Given the description of an element on the screen output the (x, y) to click on. 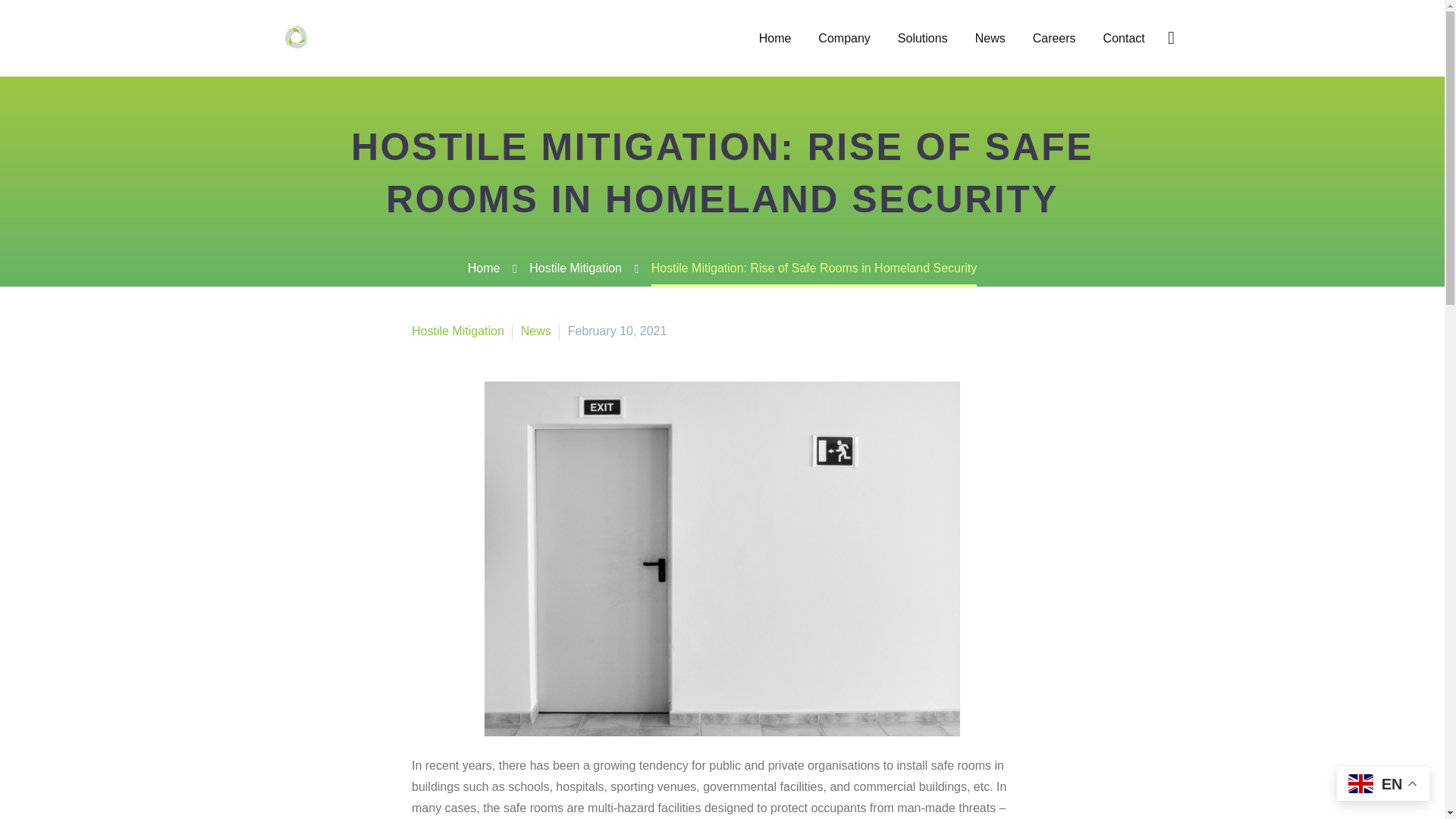
Careers (1054, 37)
View all posts in Hostile Mitigation (457, 330)
Home (483, 267)
Contact (1124, 37)
News (989, 37)
News (536, 330)
Home (775, 37)
Company (843, 37)
Hostile Mitigation (457, 330)
Hostile Mitigation (575, 267)
Solutions (922, 37)
View all posts in News (536, 330)
